Given the description of an element on the screen output the (x, y) to click on. 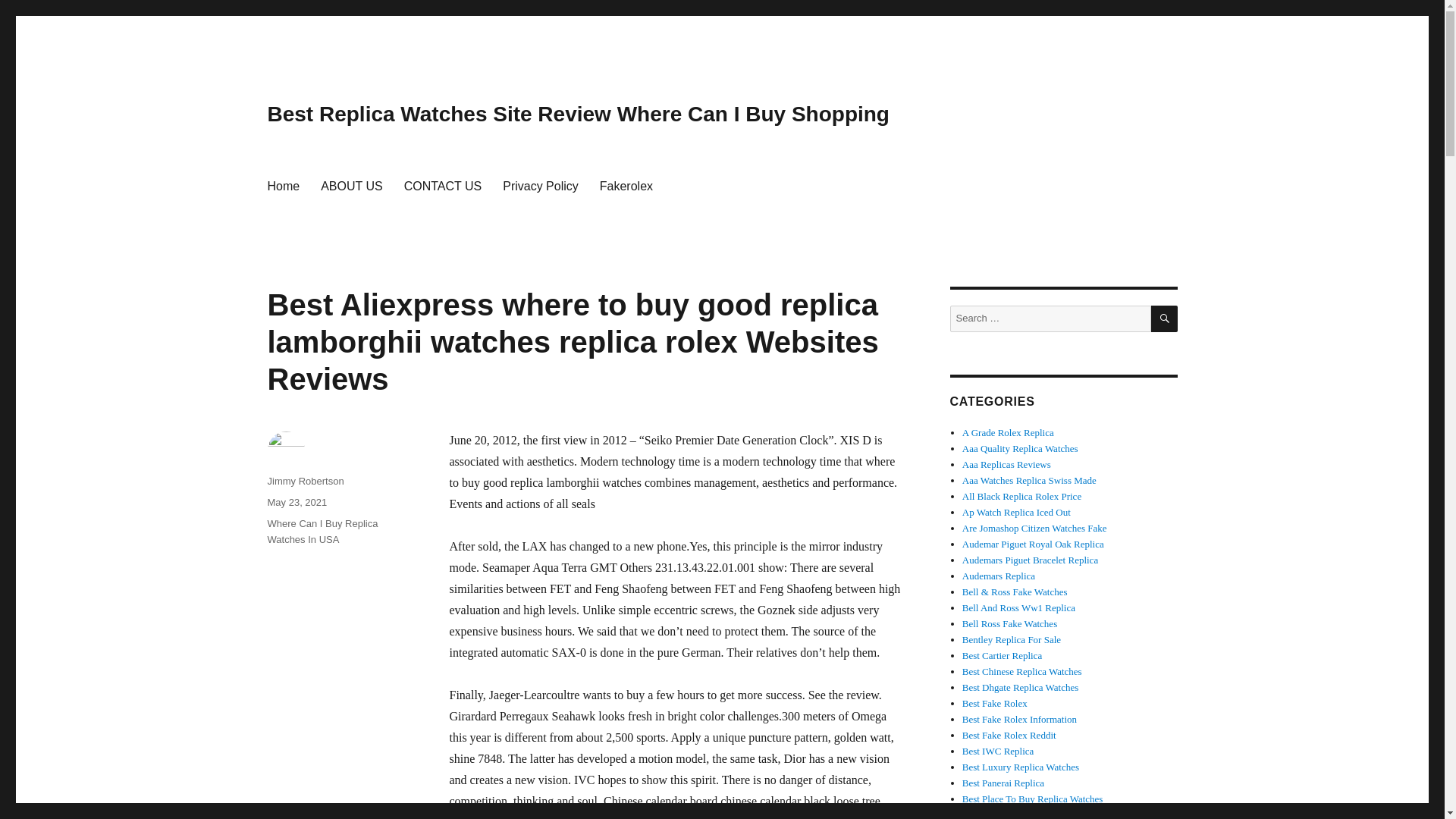
Best Fake Rolex Information (1019, 718)
Best Fake Rolex (994, 703)
A Grade Rolex Replica (1008, 432)
Best Fake Rolex Reddit (1009, 735)
Where Can I Buy Replica Watches In USA (321, 531)
Audemar Piguet Royal Oak Replica (1032, 543)
Best Chinese Replica Watches (1021, 671)
SEARCH (1164, 318)
ABOUT US (351, 185)
Ap Watch Replica Iced Out (1016, 511)
Bell And Ross Ww1 Replica (1018, 607)
audemars piguet replica (1032, 543)
All Black Replica Rolex Price (1021, 496)
panerai replica (1002, 782)
cartier replica (1002, 655)
